Given the description of an element on the screen output the (x, y) to click on. 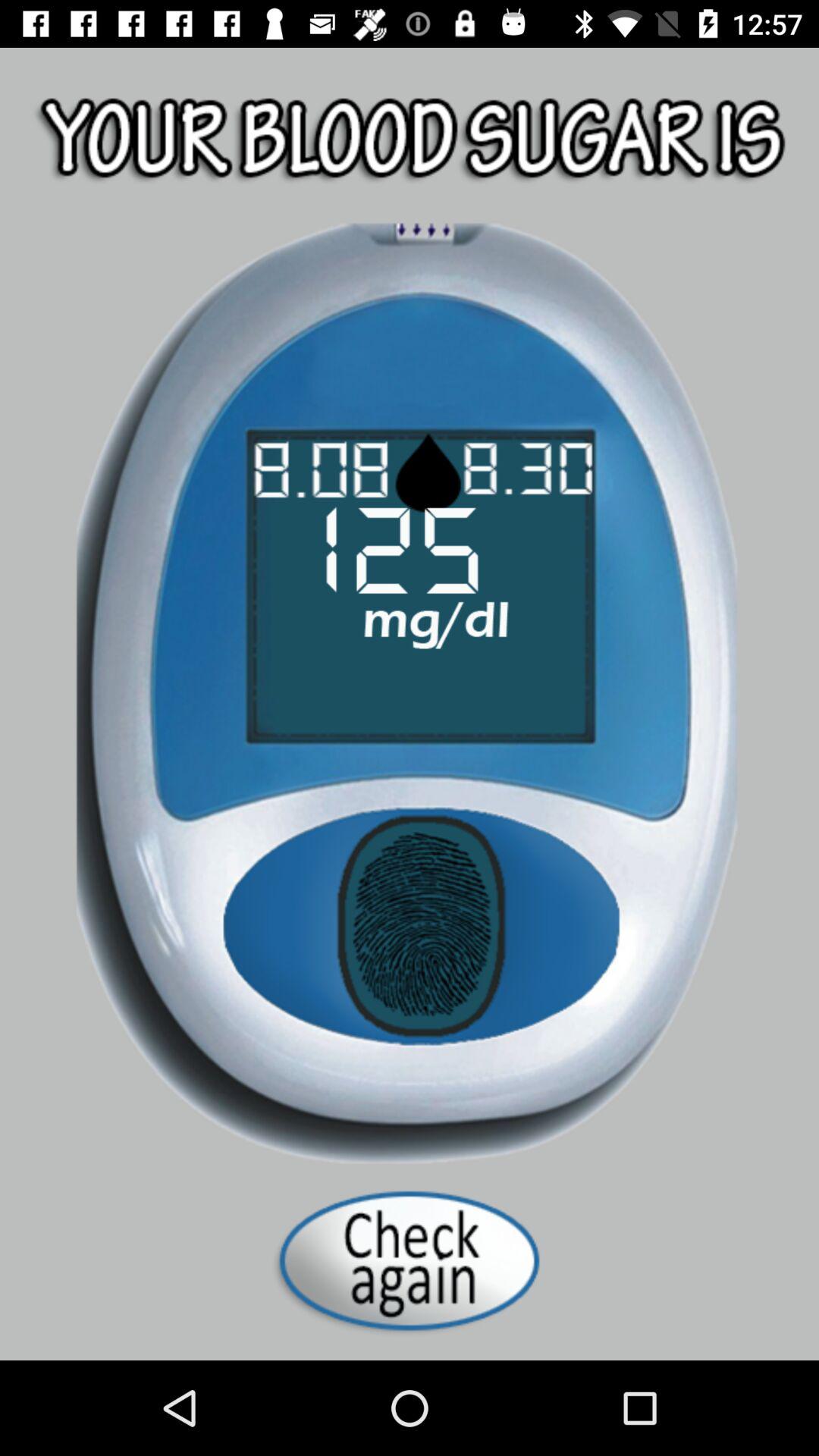
check button (409, 1260)
